Given the description of an element on the screen output the (x, y) to click on. 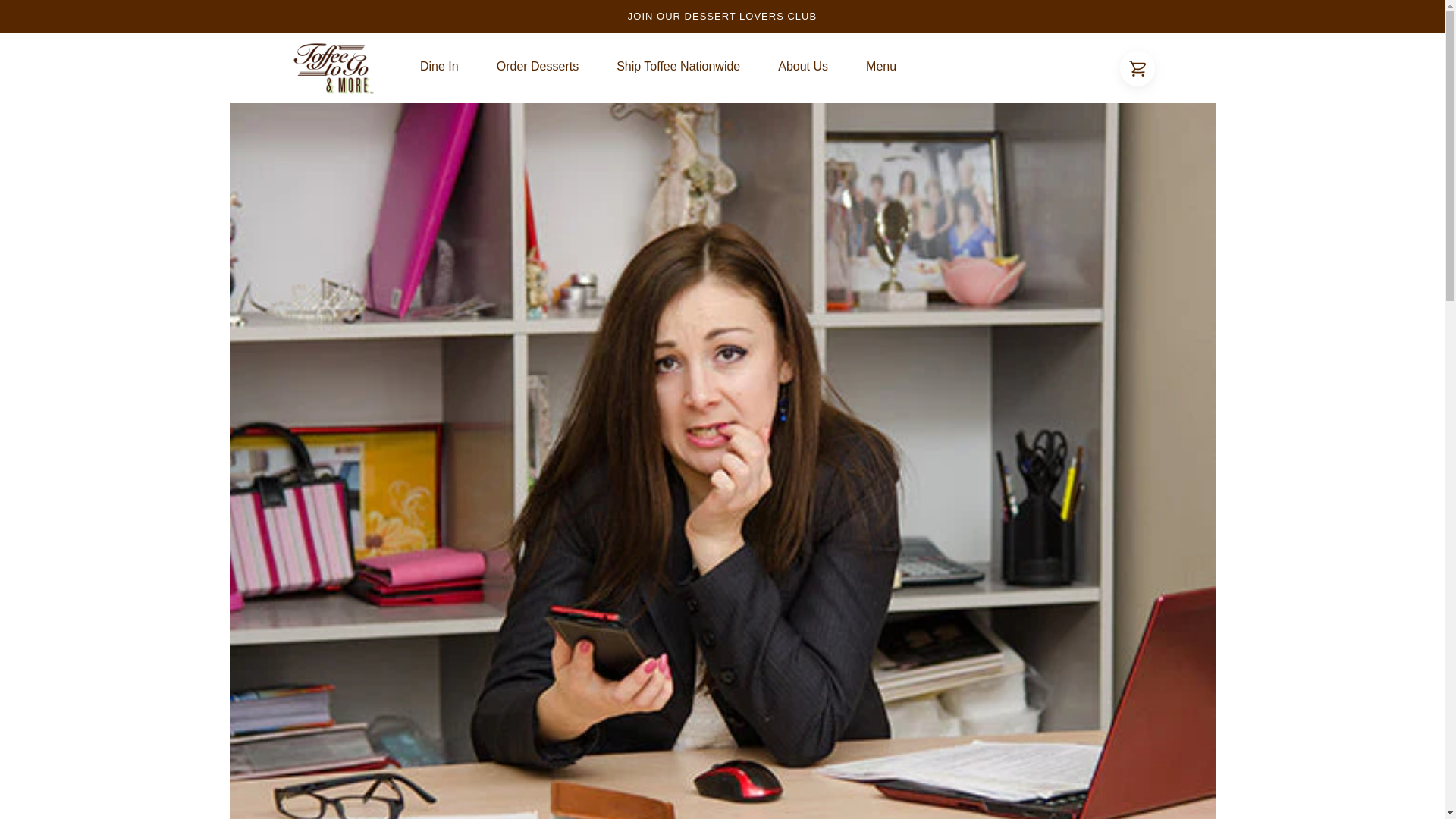
Order Desserts (537, 70)
Skip to content (45, 17)
Ship Toffee Nationwide (677, 70)
About Us (802, 70)
Menu (881, 70)
Dine In (439, 70)
